Given the description of an element on the screen output the (x, y) to click on. 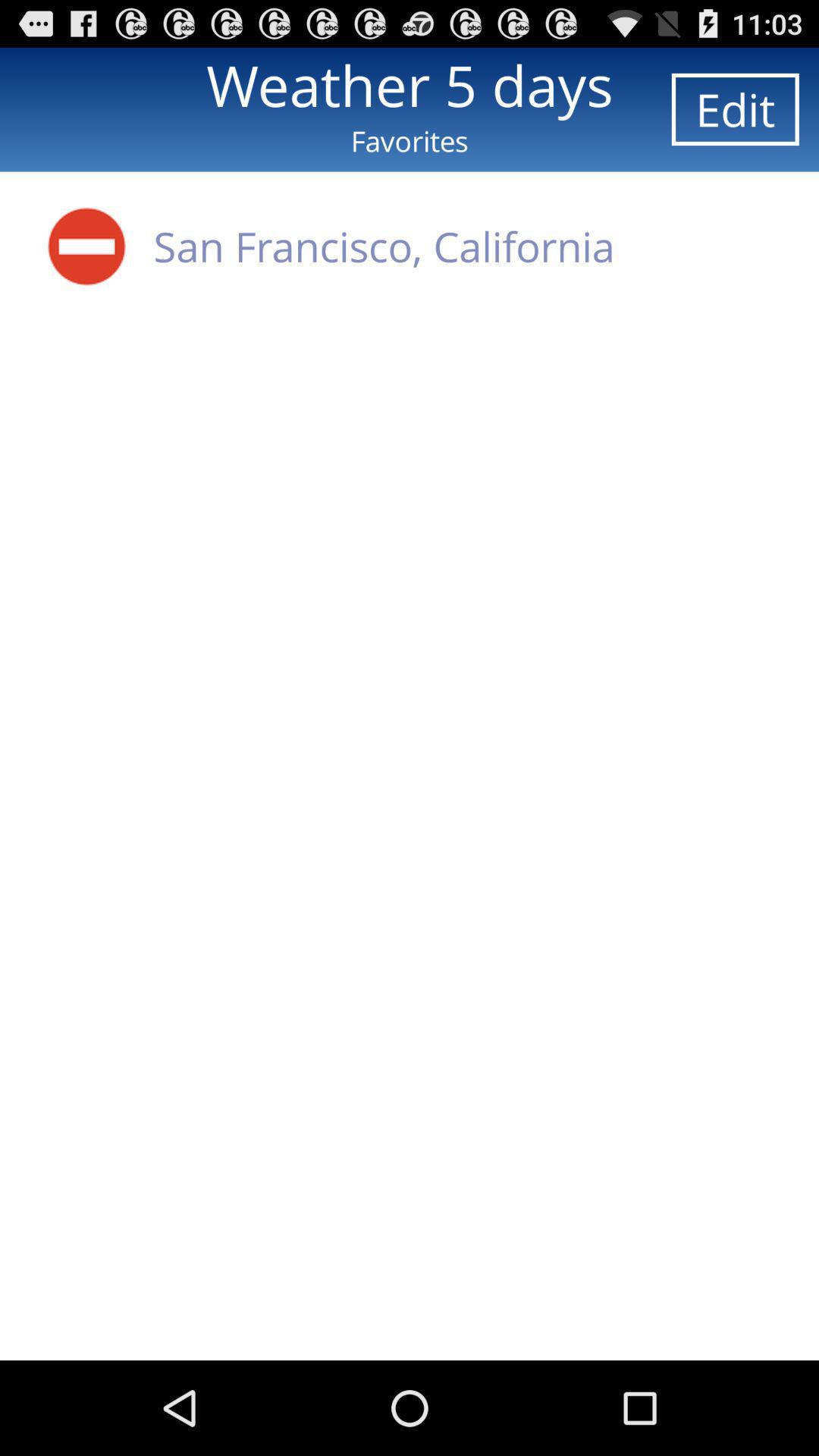
flip until edit   app (735, 109)
